Given the description of an element on the screen output the (x, y) to click on. 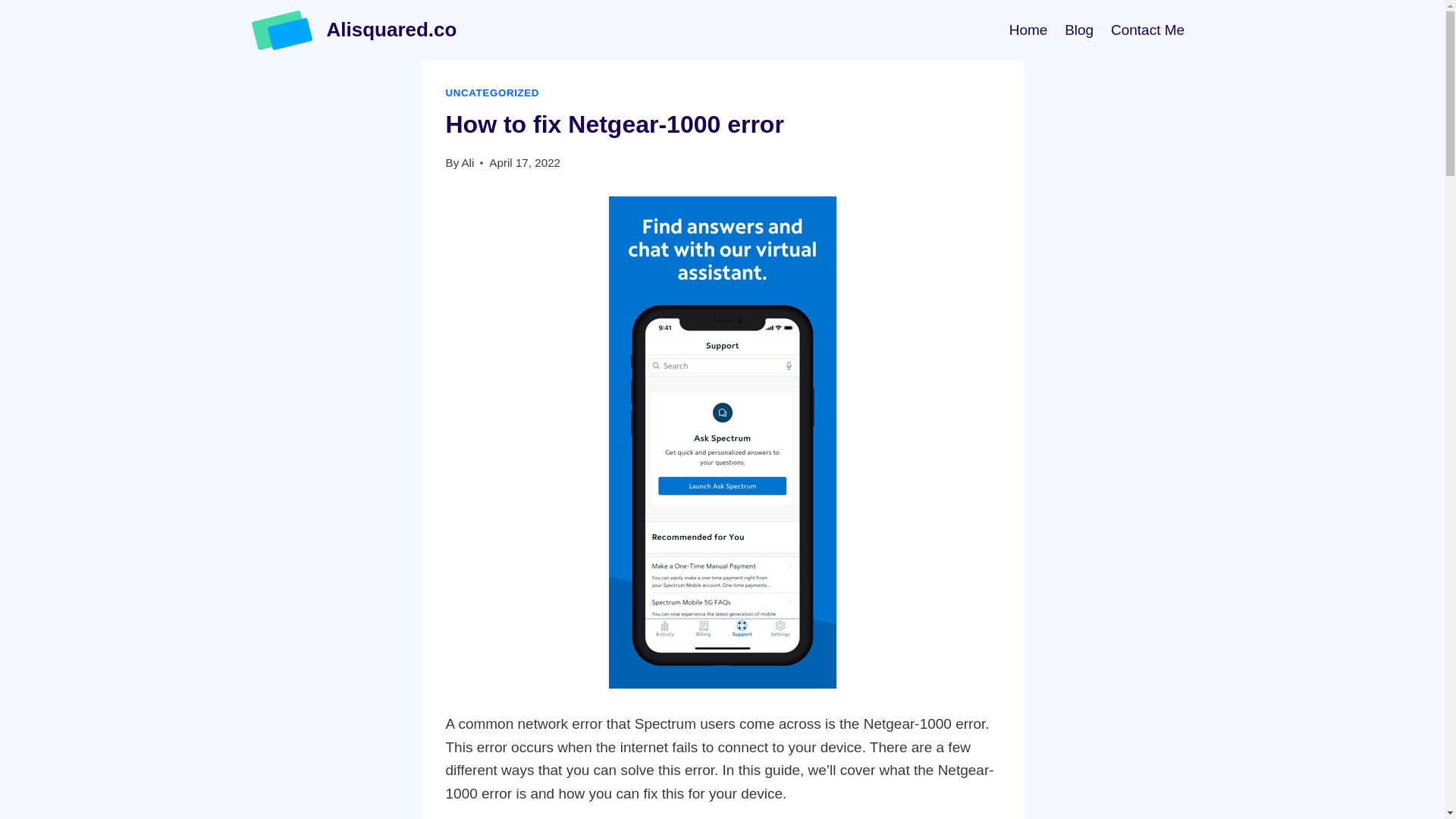
Alisquared.co (354, 30)
Home (1027, 29)
UNCATEGORIZED (492, 92)
Blog (1079, 29)
Ali (467, 162)
Contact Me (1147, 29)
